Given the description of an element on the screen output the (x, y) to click on. 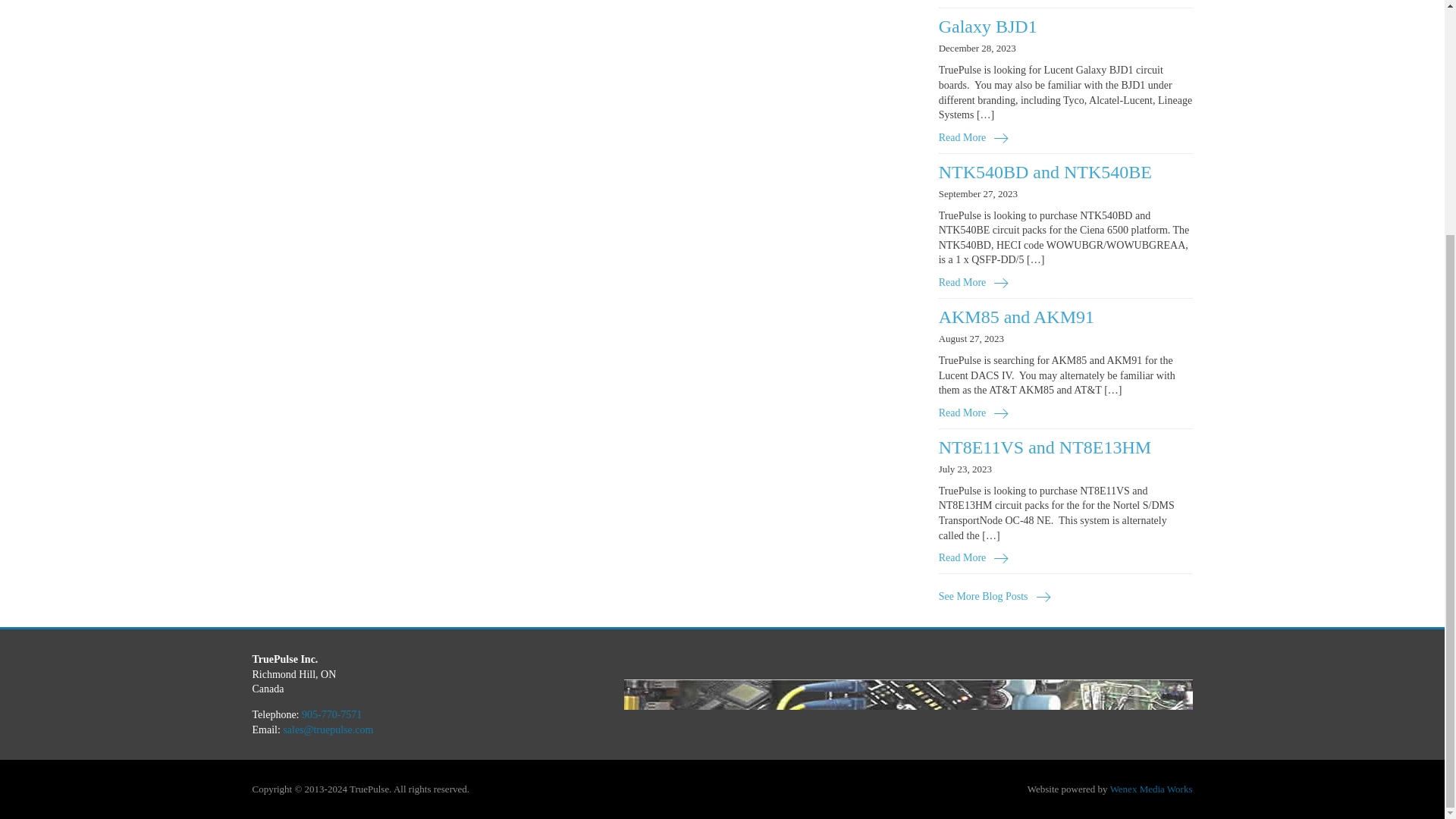
Read More (974, 282)
NT8E11VS and NT8E13HM (1045, 447)
Read More (974, 412)
Galaxy BJD1 (987, 26)
See More Blog Posts (995, 596)
AKM85 and AKM91 (1016, 316)
NTK540BD and NTK540BE (1045, 171)
Read More (974, 557)
Wenex Media Works (1150, 788)
Read More (974, 137)
905-770-7571 (331, 714)
